Given the description of an element on the screen output the (x, y) to click on. 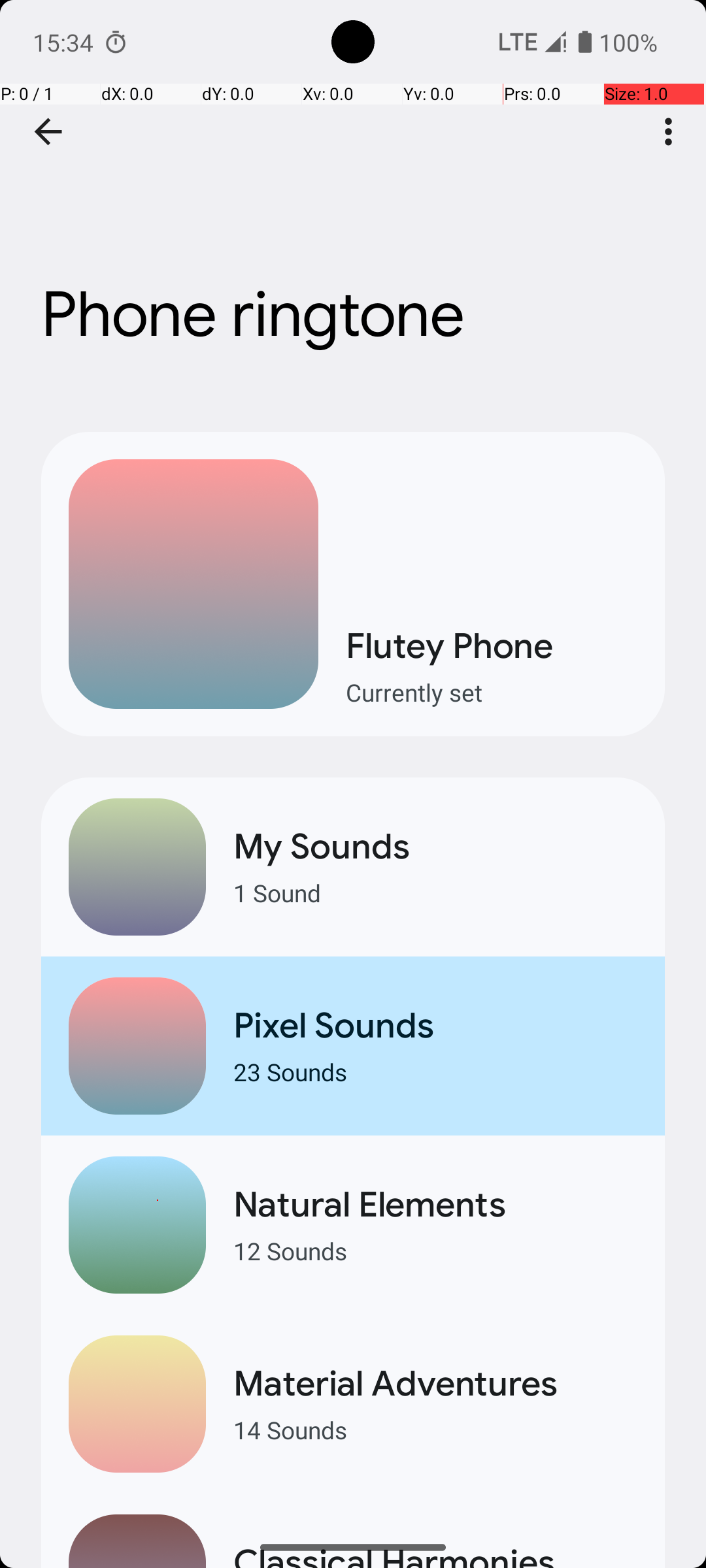
Currently set Element type: android.widget.TextView (491, 691)
My Sounds Element type: android.widget.TextView (435, 846)
1 Sound Element type: android.widget.TextView (435, 892)
Pixel Sounds Element type: android.widget.TextView (435, 1025)
23 Sounds Element type: android.widget.TextView (435, 1071)
Natural Elements Element type: android.widget.TextView (435, 1204)
Material Adventures Element type: android.widget.TextView (435, 1383)
Classical Harmonies Element type: android.widget.TextView (435, 1554)
